Given the description of an element on the screen output the (x, y) to click on. 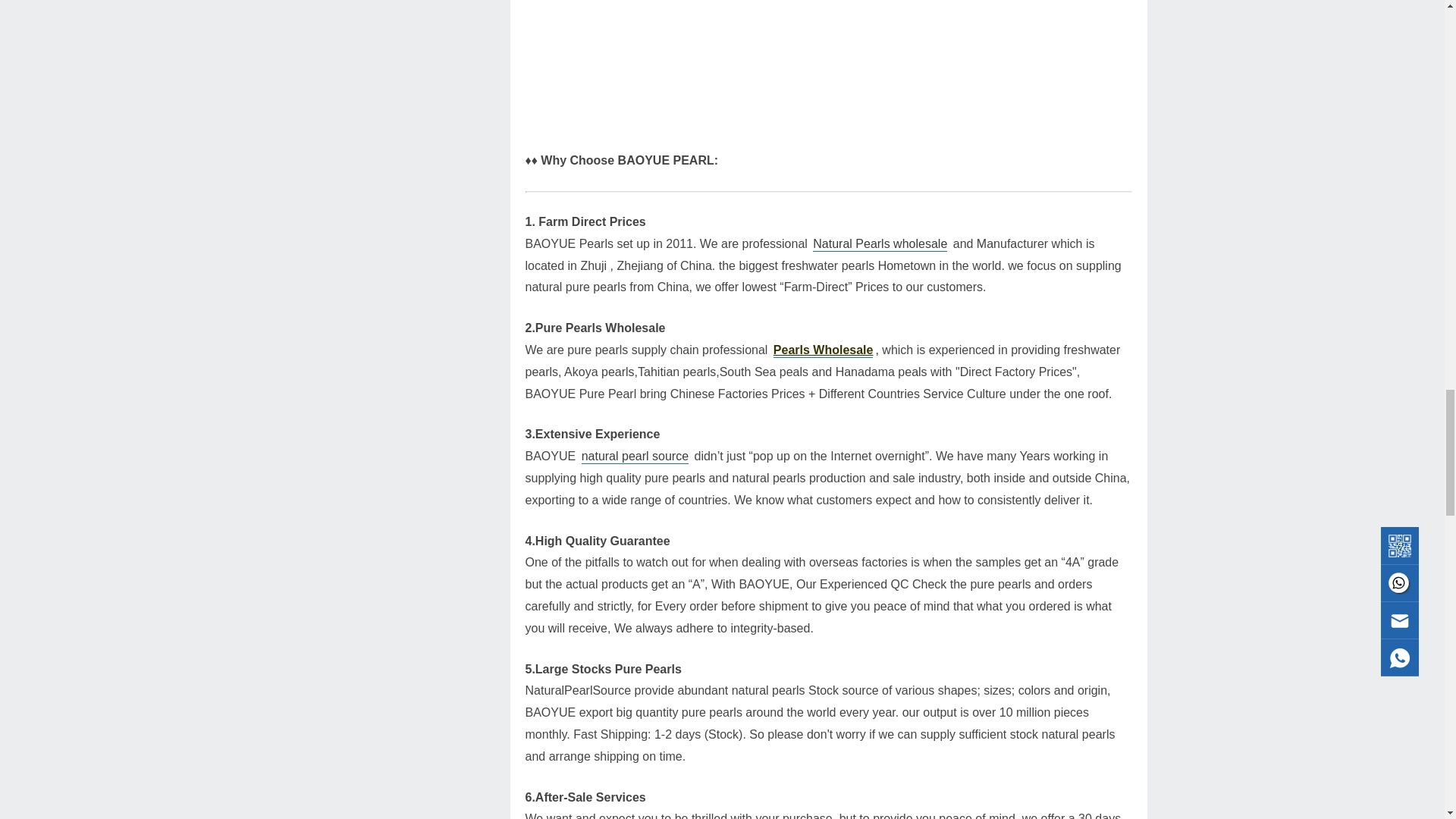
natural pearl source (634, 456)
YouTube player (827, 63)
Natural Pearls wholesale (879, 244)
